Given the description of an element on the screen output the (x, y) to click on. 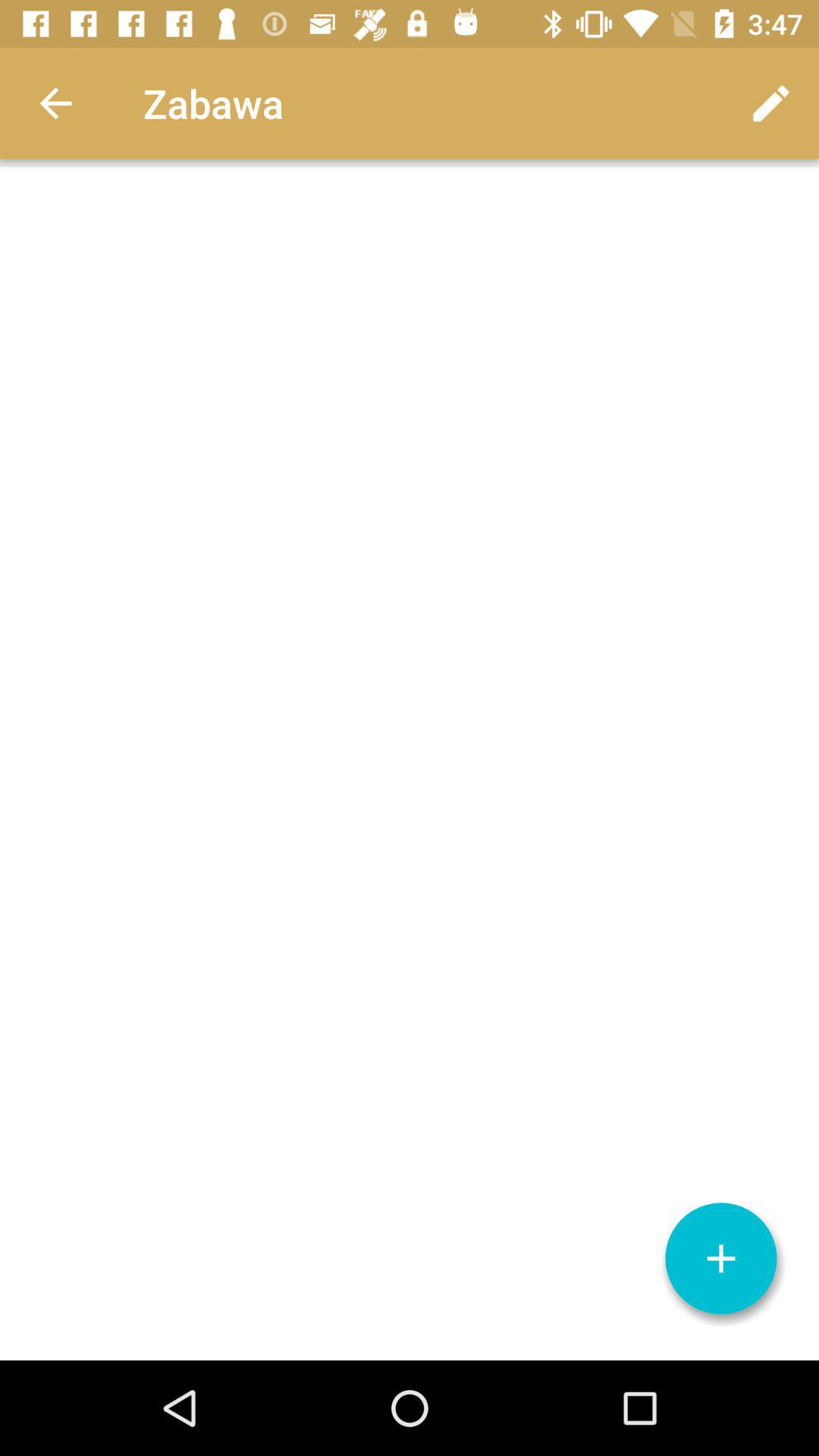
choose the icon to the right of the zabawa item (771, 103)
